Given the description of an element on the screen output the (x, y) to click on. 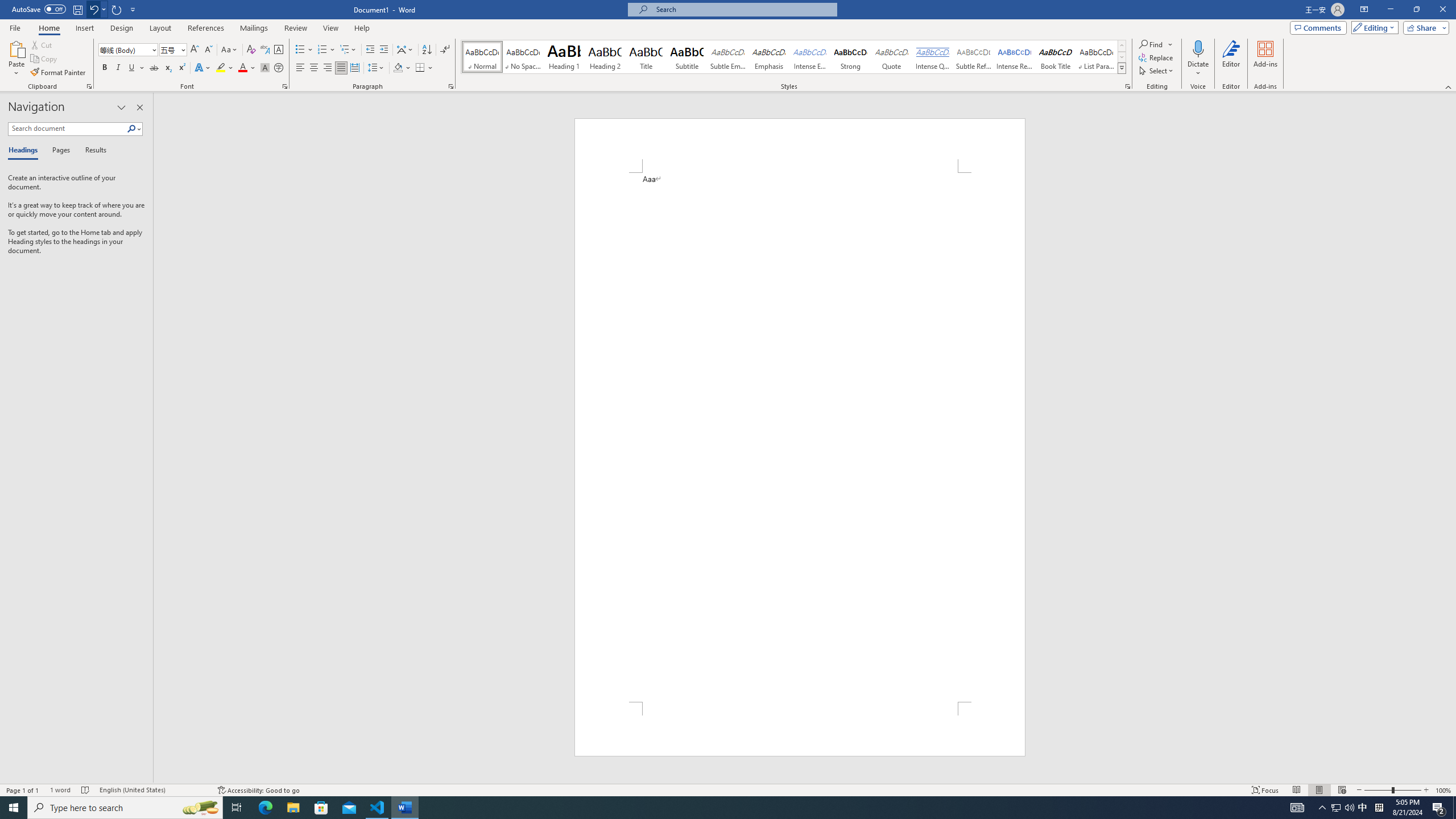
Page 1 content (800, 436)
